Given the description of an element on the screen output the (x, y) to click on. 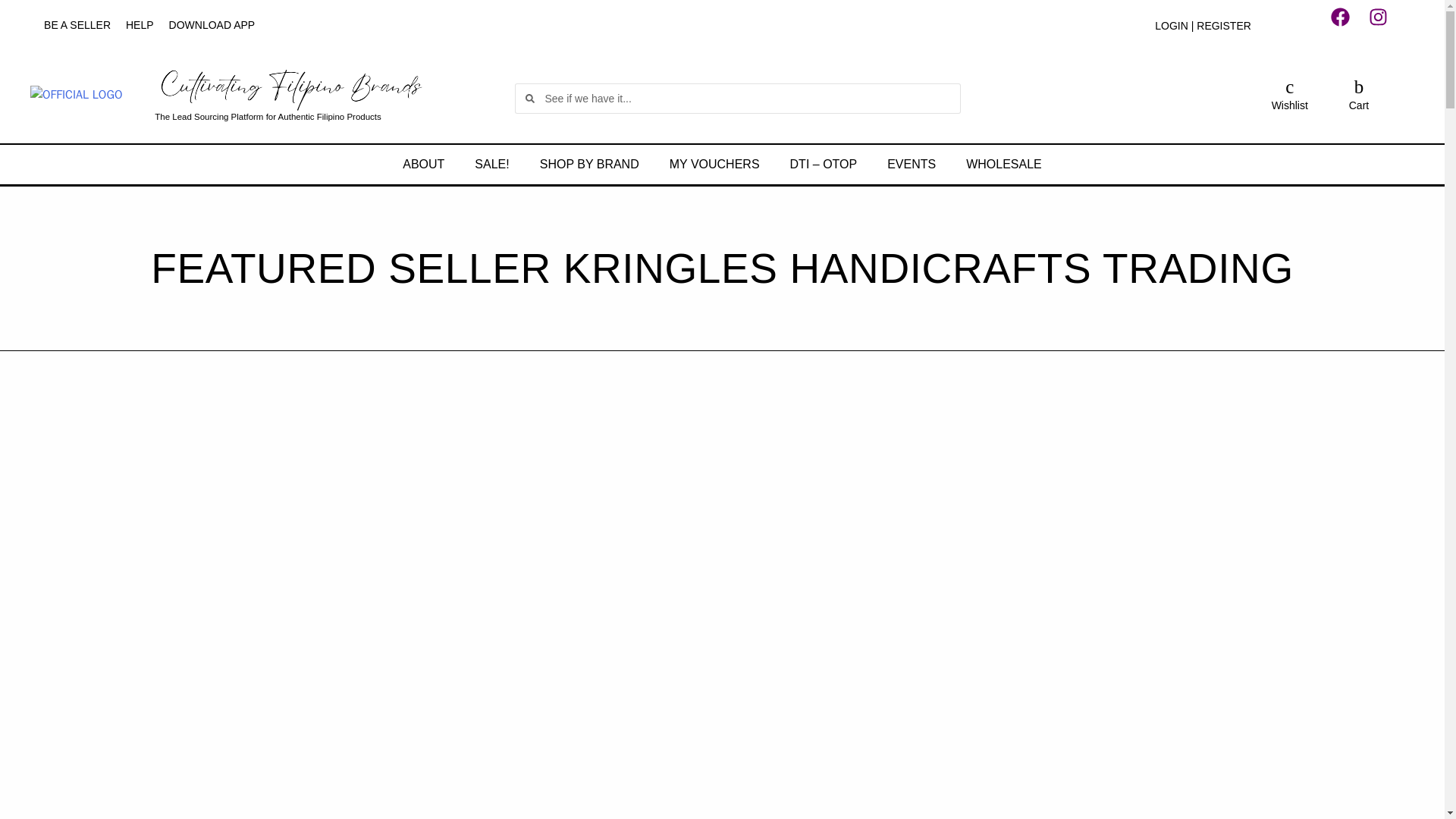
DOWNLOAD APP (212, 24)
Wishlist (1289, 105)
EVENTS (911, 164)
Cart (1358, 105)
Facebook (1349, 26)
SHOP BY BRAND (588, 164)
ABOUT (423, 164)
Instagram (1387, 26)
SALE! (492, 164)
HELP (139, 24)
